Given the description of an element on the screen output the (x, y) to click on. 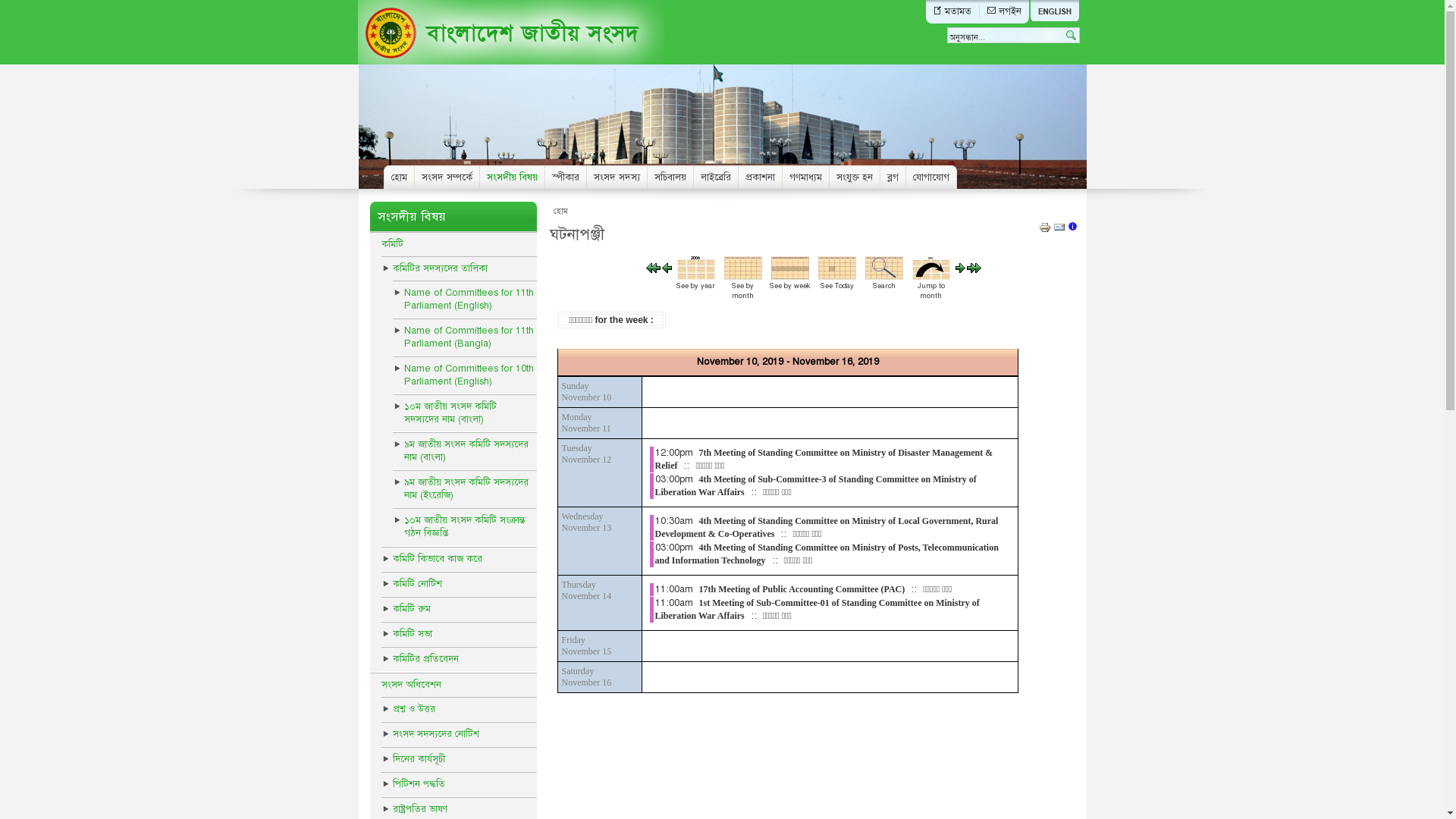
English (UK) Element type: hover (1054, 11)
Jump to month Element type: hover (931, 276)
See by month Element type: hover (743, 276)
Tuesday
November 12 Element type: text (586, 453)
Name of Committees for 10th Parliament (English) Element type: text (464, 375)
Previous month Element type: hover (653, 269)
See by year Element type: hover (696, 276)
EMAIL Element type: hover (1059, 230)
Name of Committees for 11th Parliament (English) Element type: text (464, 299)
See by week Element type: hover (790, 276)
Wednesday
November 13 Element type: text (586, 522)
Next week Element type: hover (960, 269)
Next month Element type: hover (973, 269)
Friday
November 15 Element type: text (586, 645)
Thursday
November 14 Element type: text (586, 590)
17th Meeting of Public Accounting Committee (PAC) Element type: text (802, 588)
Search Element type: hover (884, 276)
Saturday
November 16 Element type: text (586, 676)
Print Element type: hover (1044, 230)
Monday
November 11 Element type: text (585, 422)
See Today Element type: hover (837, 276)
Sunday
November 10 Element type: text (586, 391)
Name of Committees for 11th Parliament (Bangla) Element type: text (464, 337)
Previous week Element type: hover (666, 269)
